Given the description of an element on the screen output the (x, y) to click on. 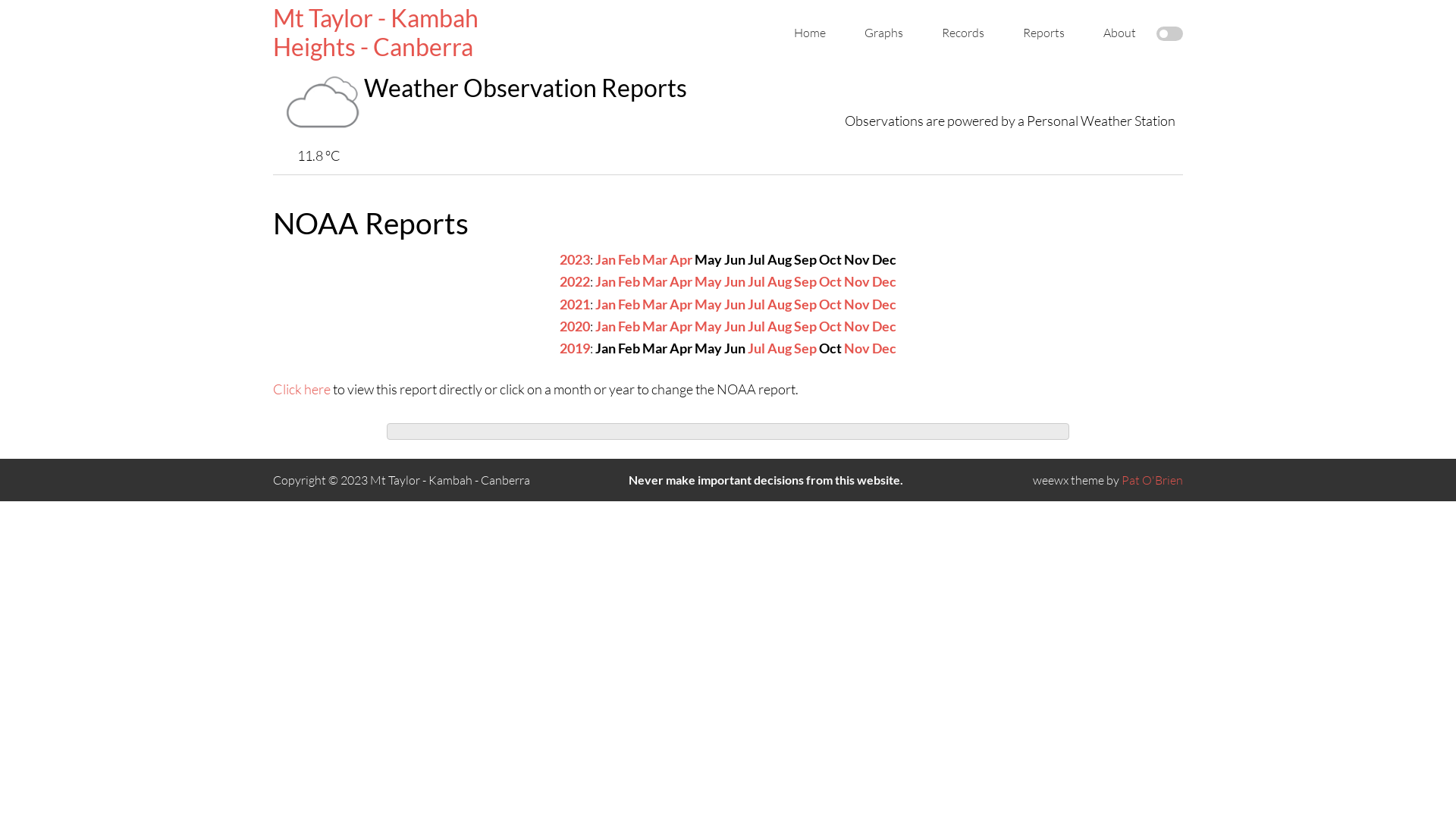
Apr Element type: text (680, 325)
Apr Element type: text (680, 281)
May Element type: text (707, 303)
Apr Element type: text (680, 303)
Aug Element type: text (779, 325)
Graphs Element type: text (883, 32)
Jan Element type: text (605, 303)
Mar Element type: text (654, 325)
Jul Element type: text (756, 347)
Jul Element type: text (756, 325)
Jan Element type: text (605, 281)
May Element type: text (707, 325)
Jan Element type: text (605, 325)
May Element type: text (707, 281)
Jun Element type: text (734, 281)
2020 Element type: text (574, 325)
Dec Element type: text (884, 325)
Click here Element type: text (301, 388)
Feb Element type: text (629, 281)
Sep Element type: text (804, 325)
Home Element type: text (809, 32)
Jul Element type: text (756, 281)
Oct Element type: text (830, 303)
Mar Element type: text (654, 281)
Pat O'Brien Element type: text (1152, 479)
Feb Element type: text (629, 303)
Mar Element type: text (654, 259)
Sep Element type: text (804, 347)
Jun Element type: text (734, 303)
2019 Element type: text (574, 347)
Sep Element type: text (804, 303)
Feb Element type: text (629, 325)
2022 Element type: text (574, 281)
About Element type: text (1119, 32)
Nov Element type: text (856, 303)
Jan Element type: text (605, 259)
Reports Element type: text (1043, 32)
Nov Element type: text (856, 281)
Nov Element type: text (856, 347)
Sep Element type: text (804, 281)
Aug Element type: text (779, 281)
Jul Element type: text (756, 303)
Mar Element type: text (654, 303)
2021 Element type: text (574, 303)
Feb Element type: text (629, 259)
Aug Element type: text (779, 303)
Oct Element type: text (830, 325)
Nov Element type: text (856, 325)
Dec Element type: text (884, 347)
Mt Taylor - Kambah Heights - Canberra Element type: text (375, 32)
Apr Element type: text (680, 259)
2023 Element type: text (574, 259)
Oct Element type: text (830, 281)
Records Element type: text (962, 32)
Dec Element type: text (884, 281)
Dec Element type: text (884, 303)
Aug Element type: text (779, 347)
Jun Element type: text (734, 325)
